Given the description of an element on the screen output the (x, y) to click on. 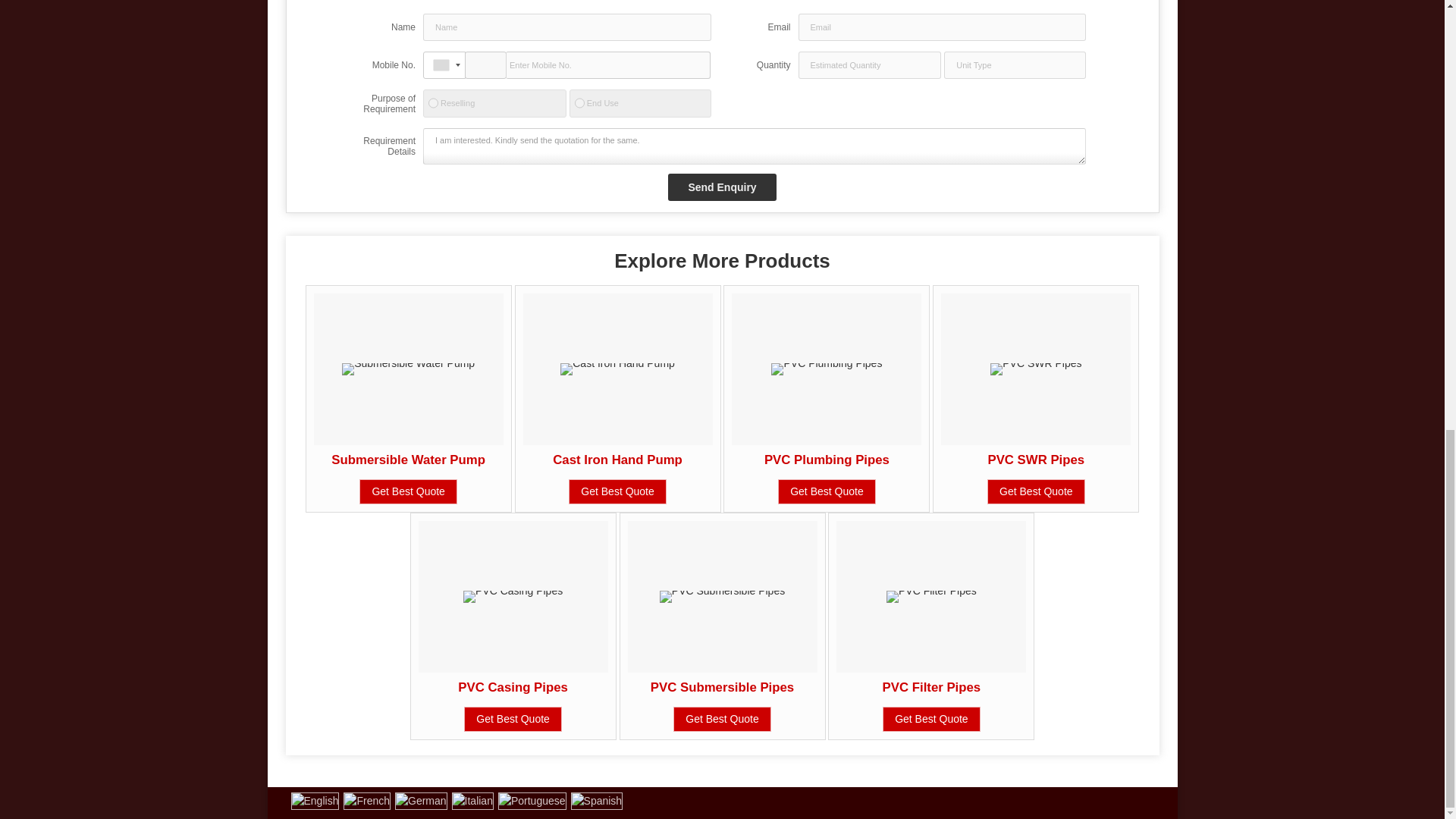
End Use (580, 103)
Reselling (433, 103)
PVC Plumbing Pipes (826, 459)
Send Enquiry (722, 186)
Submersible Water Pump (407, 459)
Get Best Quote (826, 491)
Send Enquiry (722, 186)
Get Best Quote (408, 491)
Get Best Quote (617, 491)
Cast Iron Hand Pump (617, 459)
